Given the description of an element on the screen output the (x, y) to click on. 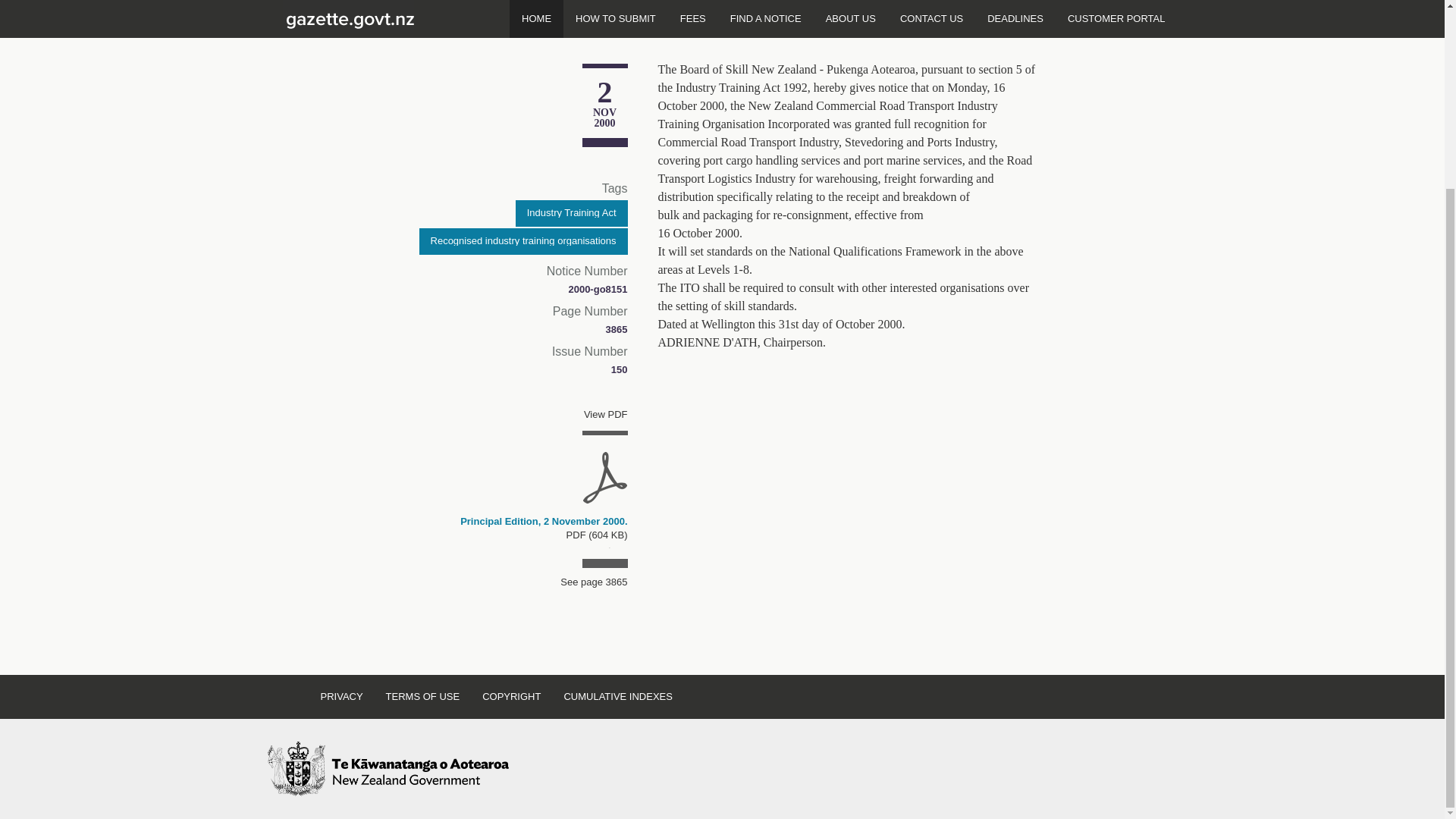
Industry Training Act (571, 212)
PRIVACY (341, 696)
CUMULATIVE INDEXES (617, 696)
TERMS OF USE (422, 696)
Recognised industry training organisations (523, 241)
COPYRIGHT (510, 696)
